Given the description of an element on the screen output the (x, y) to click on. 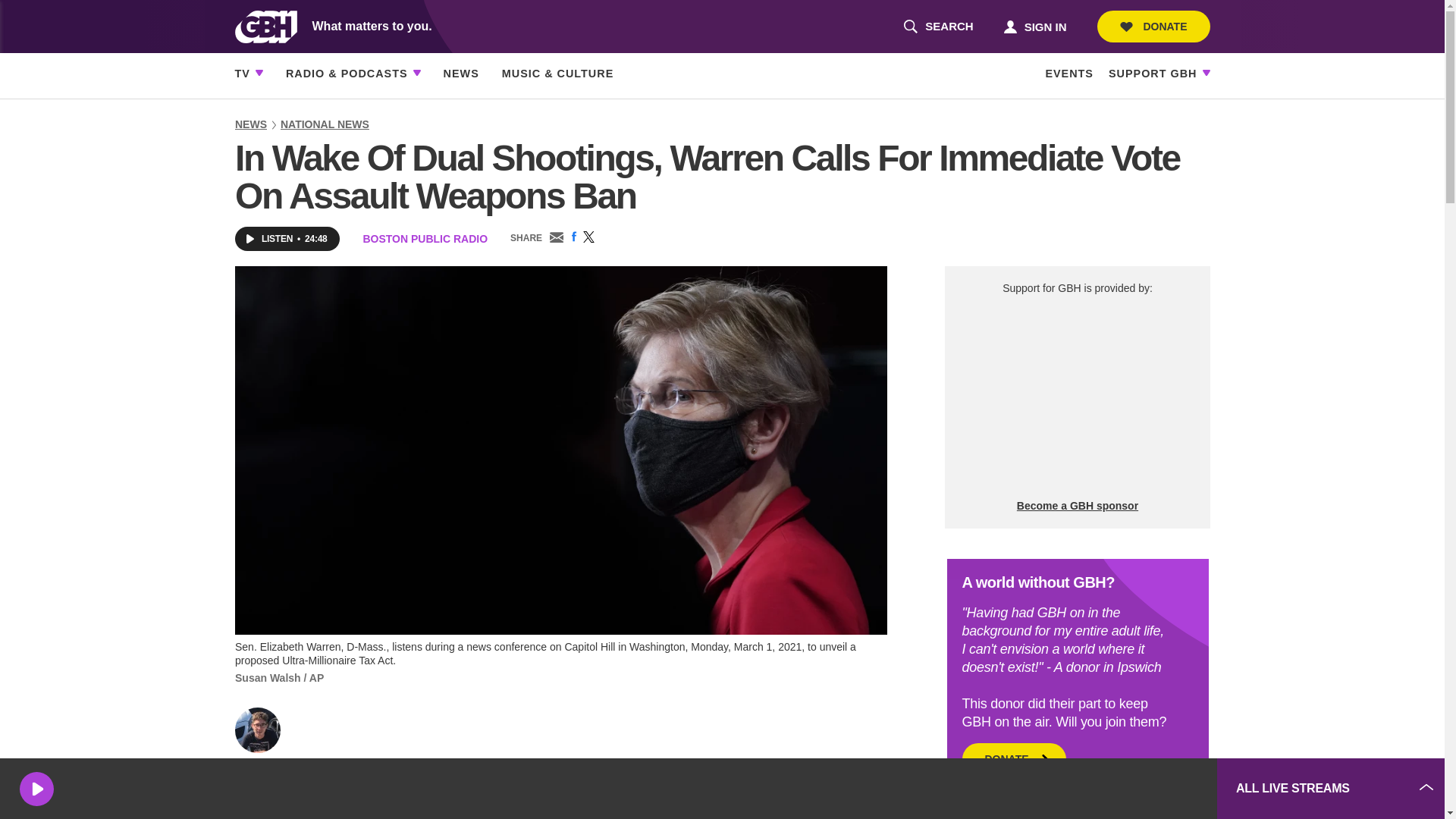
3rd party ad content (1091, 788)
3rd party ad content (937, 26)
SIGN IN (1076, 397)
DONATE (1034, 25)
